Given the description of an element on the screen output the (x, y) to click on. 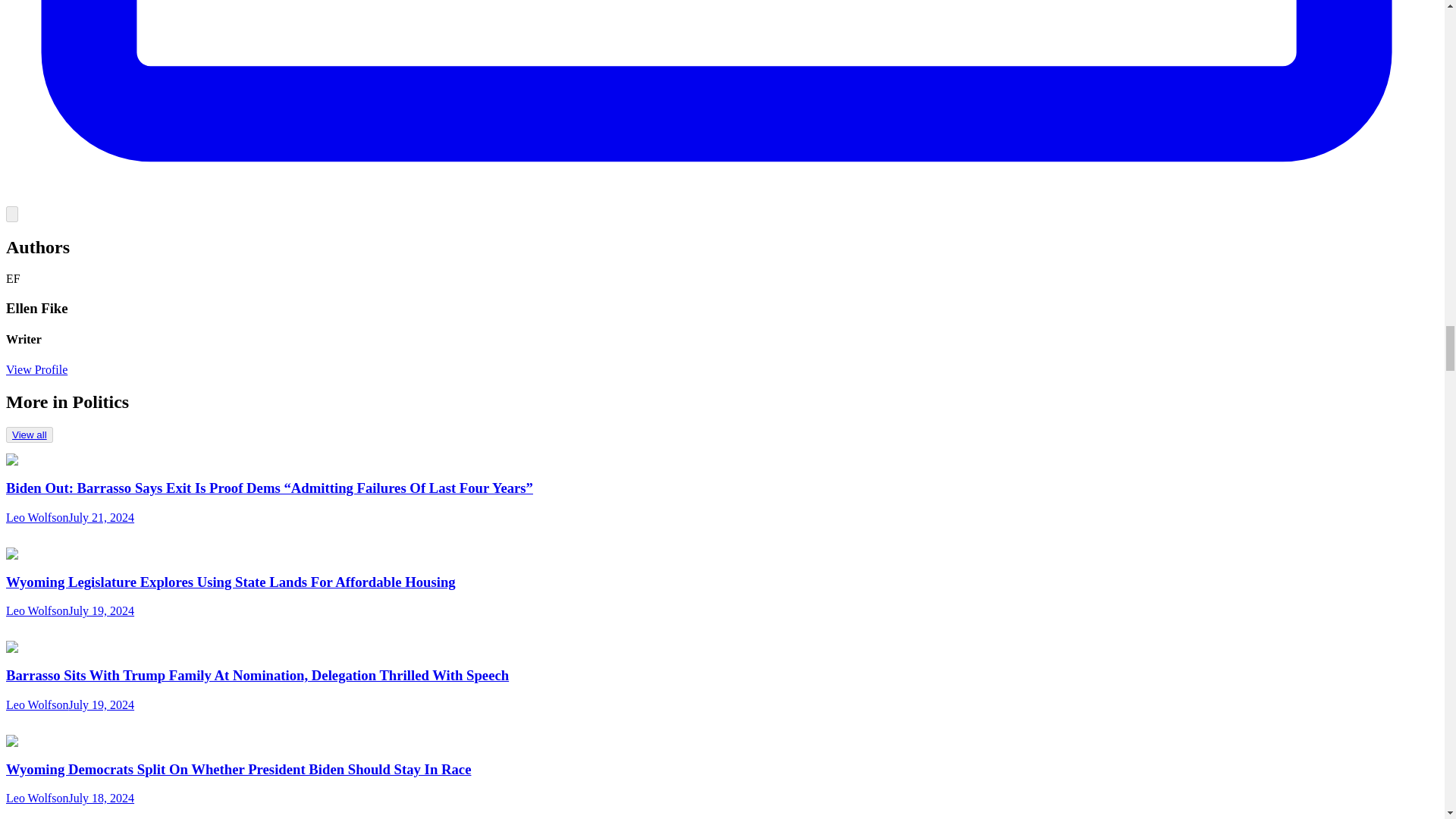
Copy to clipboard (11, 213)
